Given the description of an element on the screen output the (x, y) to click on. 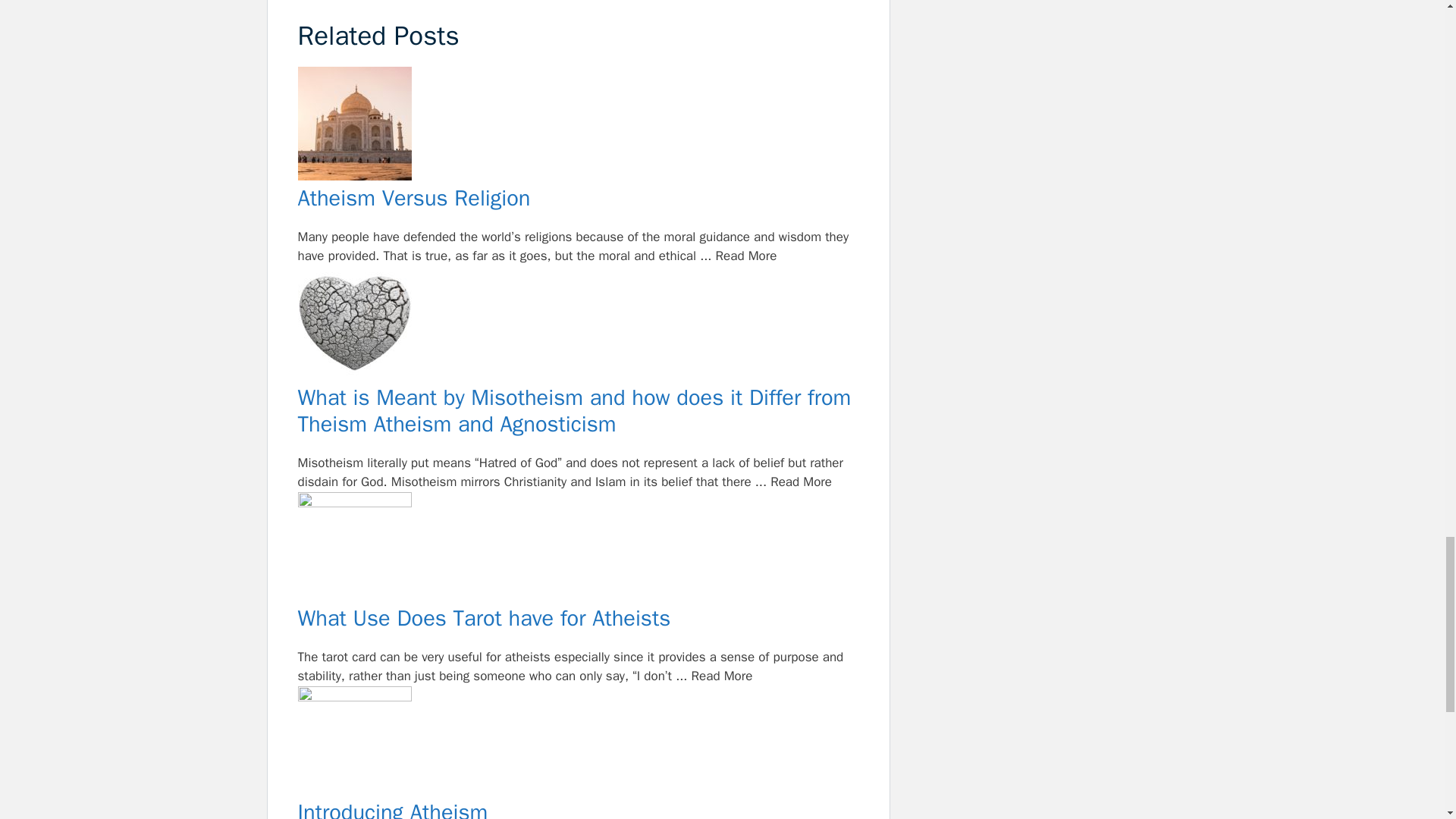
Atheism Versus Religion (578, 198)
Introducing Atheism (578, 809)
What Use Does Tarot have for Atheists (578, 619)
Atheism Versus Religion (578, 126)
Introducing Atheism (578, 743)
What Use Does Tarot have for Atheists (578, 549)
